Given the description of an element on the screen output the (x, y) to click on. 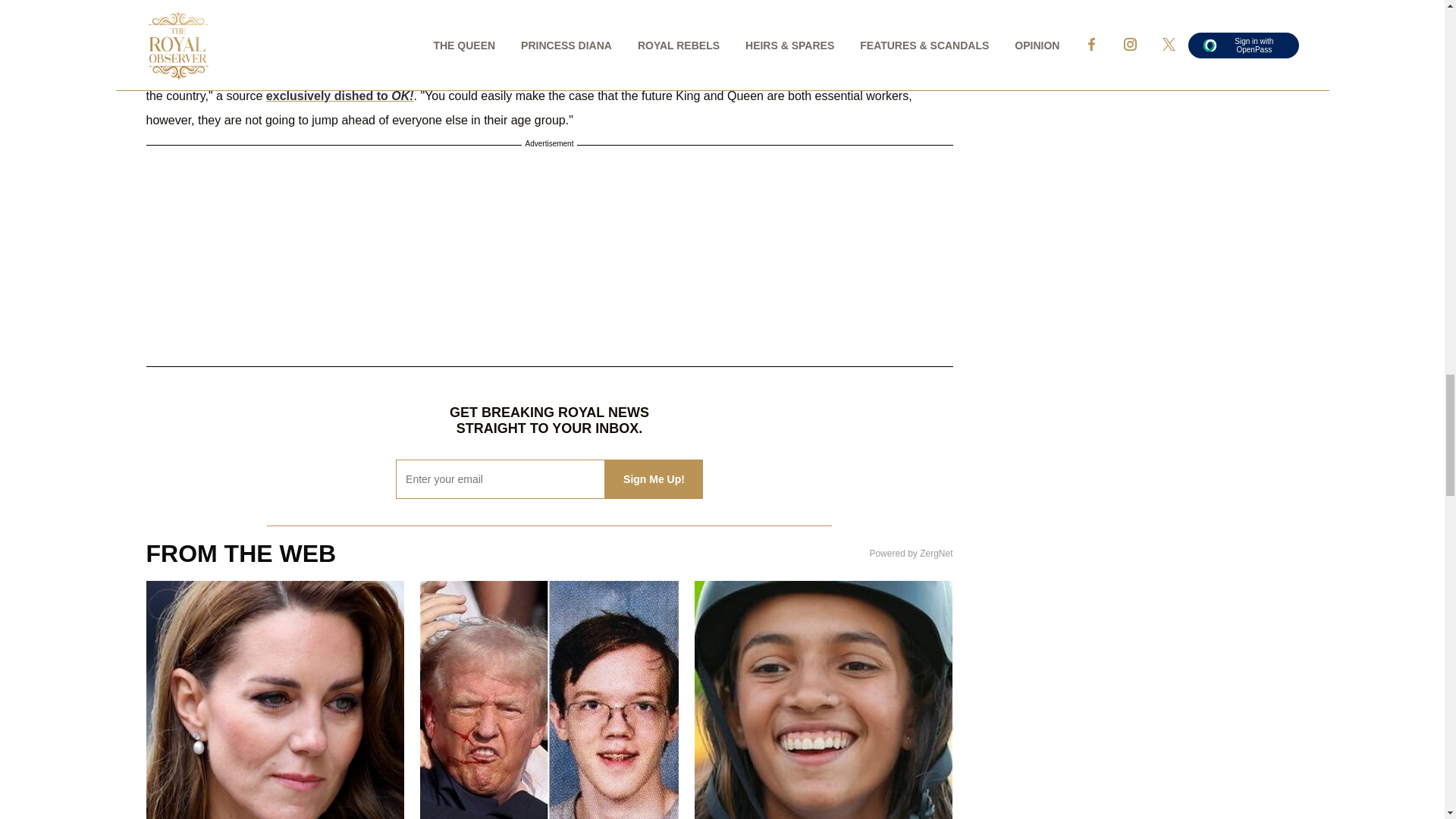
Sign Me Up! (654, 478)
